Given the description of an element on the screen output the (x, y) to click on. 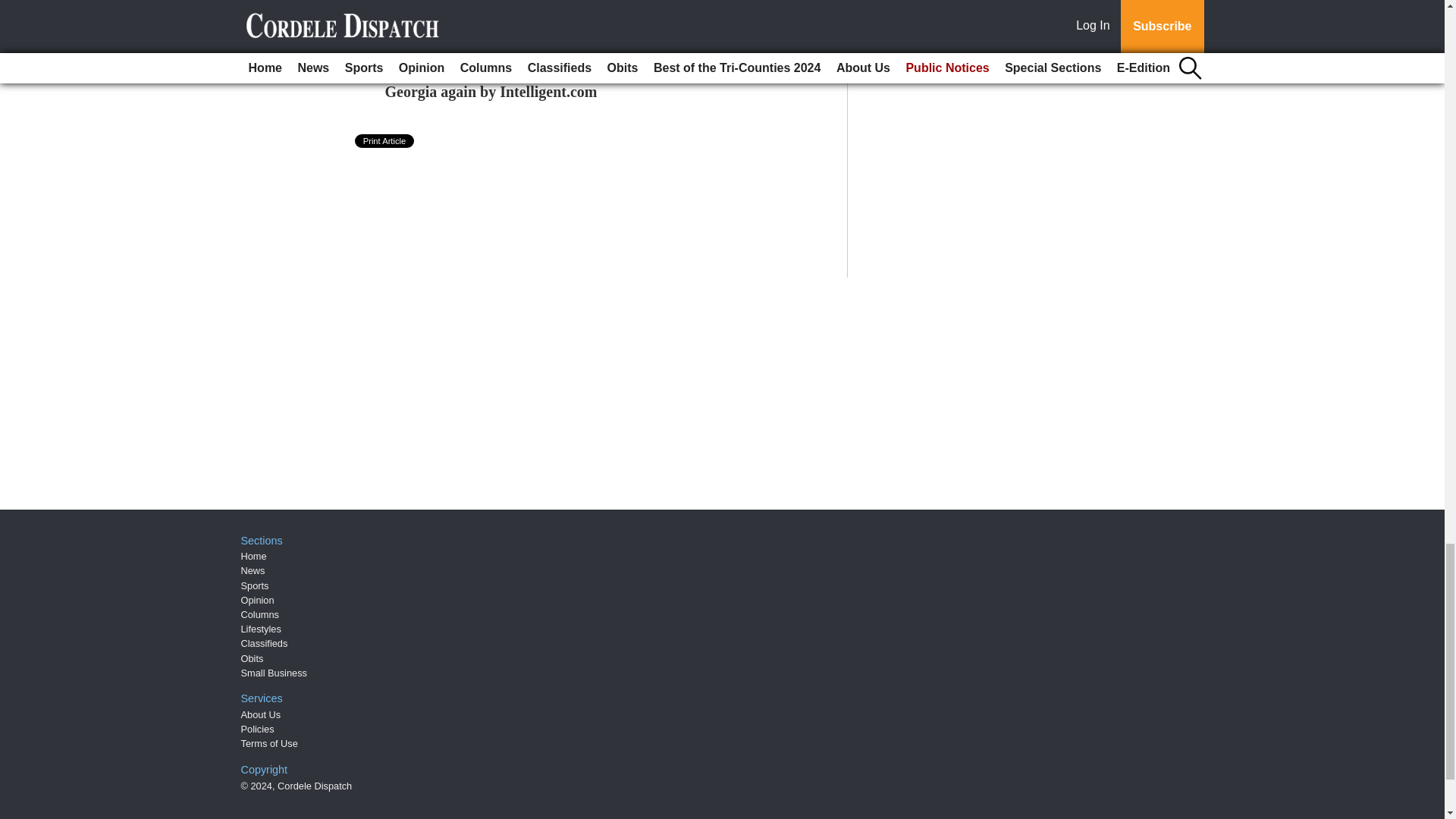
Small Business (274, 672)
Lifestyles (261, 628)
Classifieds (264, 643)
Sports (255, 585)
Columns (260, 614)
Obits (252, 658)
Home (253, 555)
Print Article (384, 141)
